Given the description of an element on the screen output the (x, y) to click on. 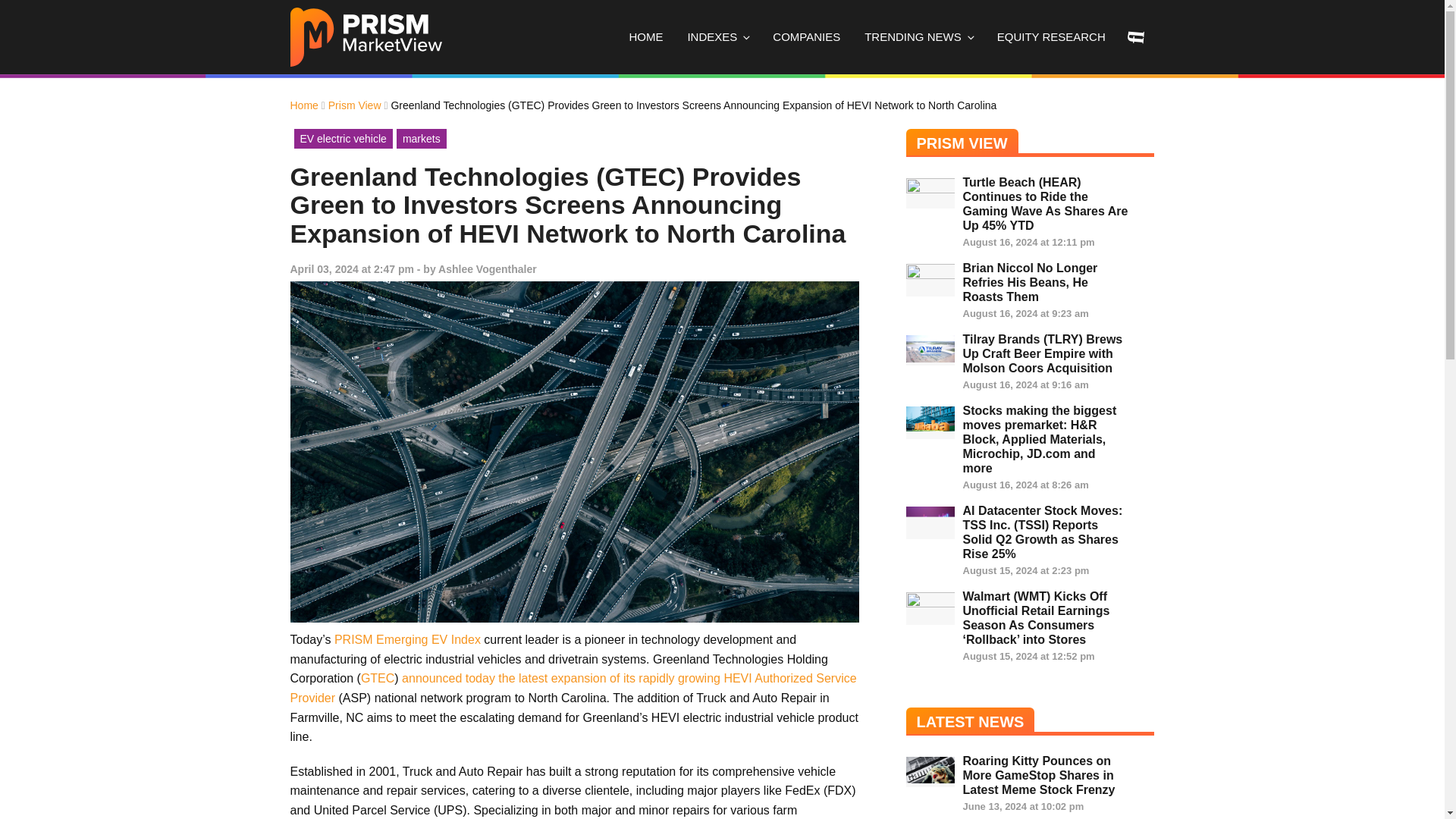
INDEXES (717, 37)
EQUITY RESEARCH (1051, 37)
TRENDING NEWS (918, 37)
HOME (645, 37)
COMPANIES (805, 37)
